Given the description of an element on the screen output the (x, y) to click on. 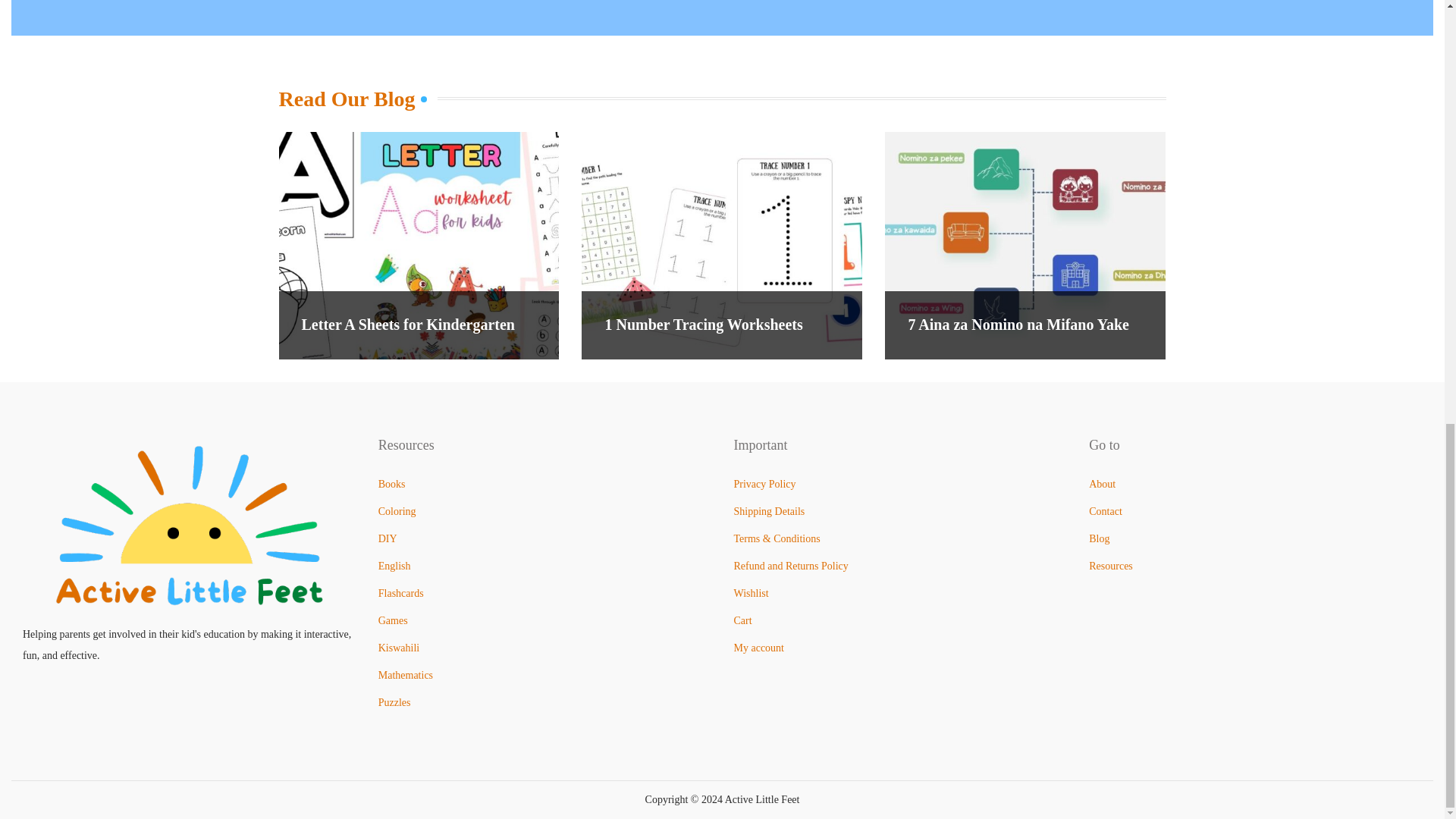
Wishlist (750, 593)
Letter A Sheets for Kindergarten (408, 324)
7 Aina za Nomino na Mifano Yake (1018, 324)
Kiswahili (398, 647)
Puzzles (394, 702)
Privacy Policy (764, 483)
Books (392, 483)
Games (392, 620)
DIY (387, 538)
Coloring (397, 511)
Flashcards (400, 593)
1 Number Tracing Worksheets (703, 324)
Refund and Returns Policy (790, 565)
Shipping Details (769, 511)
English (394, 565)
